Given the description of an element on the screen output the (x, y) to click on. 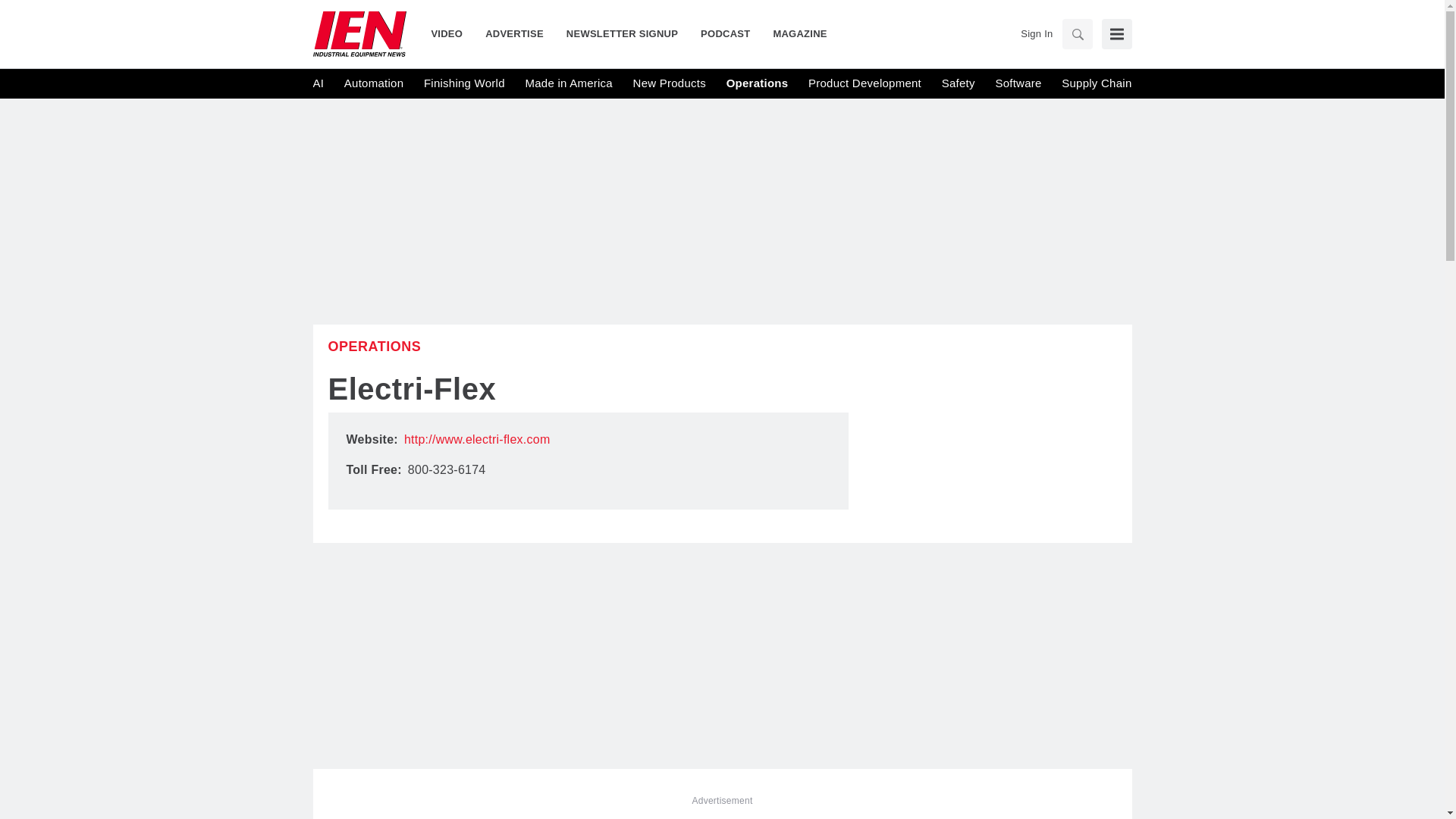
New Products (669, 83)
Supply Chain (1096, 83)
MAGAZINE (794, 33)
Operations (373, 346)
Product Development (864, 83)
Software (1017, 83)
Sign In (1036, 33)
Operations (757, 83)
PODCAST (724, 33)
Made in America (567, 83)
